Given the description of an element on the screen output the (x, y) to click on. 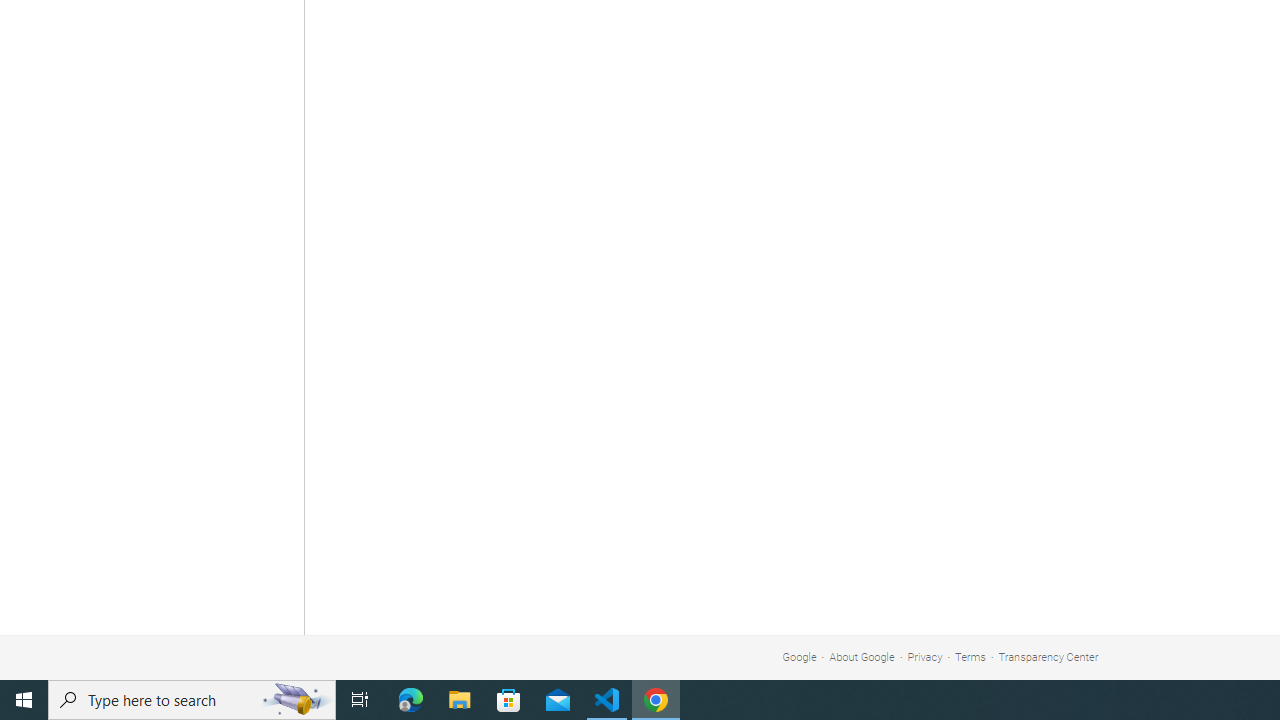
About Google (861, 656)
Transparency Center (1048, 656)
